Given the description of an element on the screen output the (x, y) to click on. 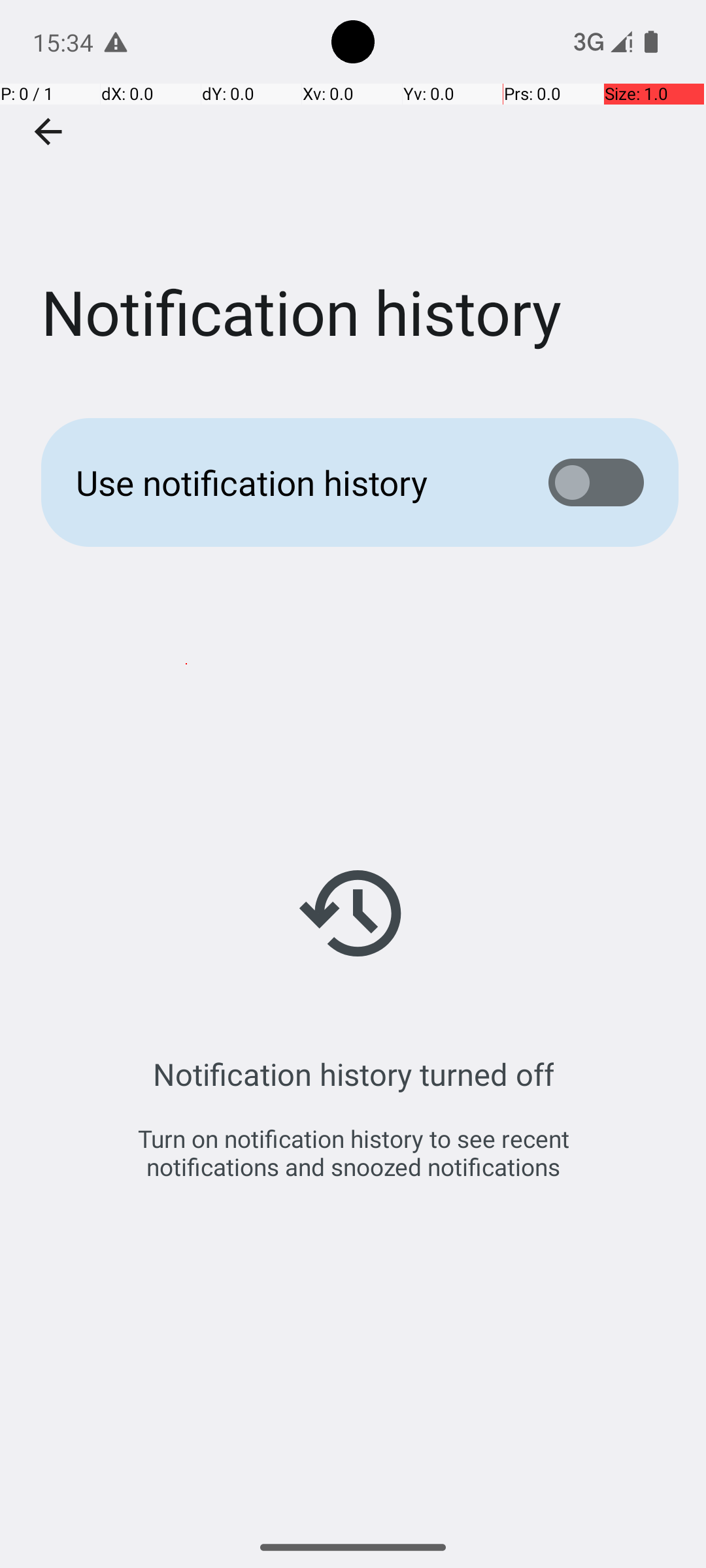
Notification history Element type: android.widget.FrameLayout (353, 195)
Notification history turned off Element type: android.widget.TextView (352, 1073)
Turn on notification history to see recent notifications and snoozed notifications Element type: android.widget.TextView (352, 1152)
Use notification history Element type: android.widget.TextView (291, 482)
